Given the description of an element on the screen output the (x, y) to click on. 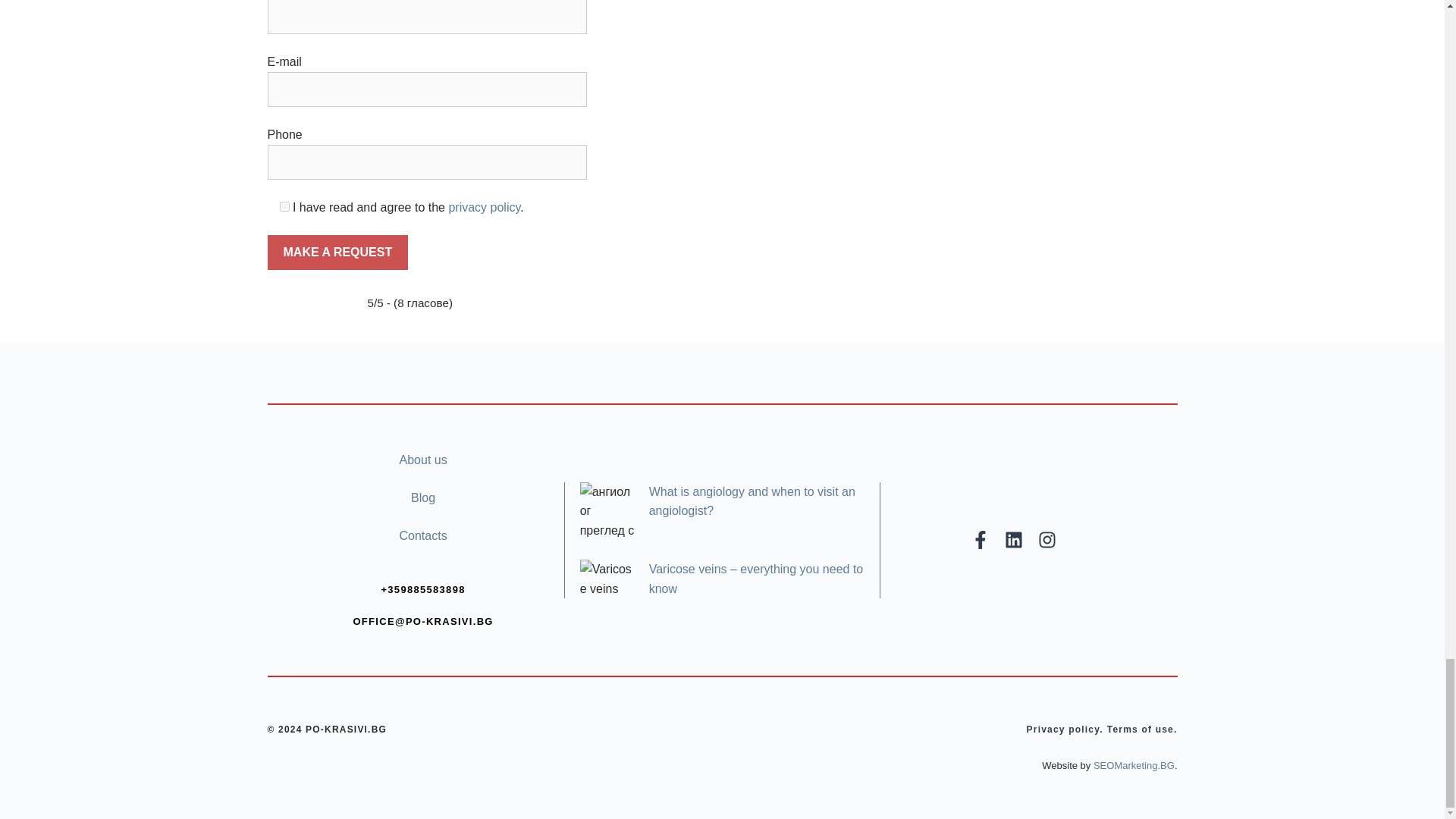
Make a request (336, 252)
1 (283, 205)
Make a request (336, 252)
privacy policy (483, 206)
About us (422, 459)
Blog (422, 497)
